Given the description of an element on the screen output the (x, y) to click on. 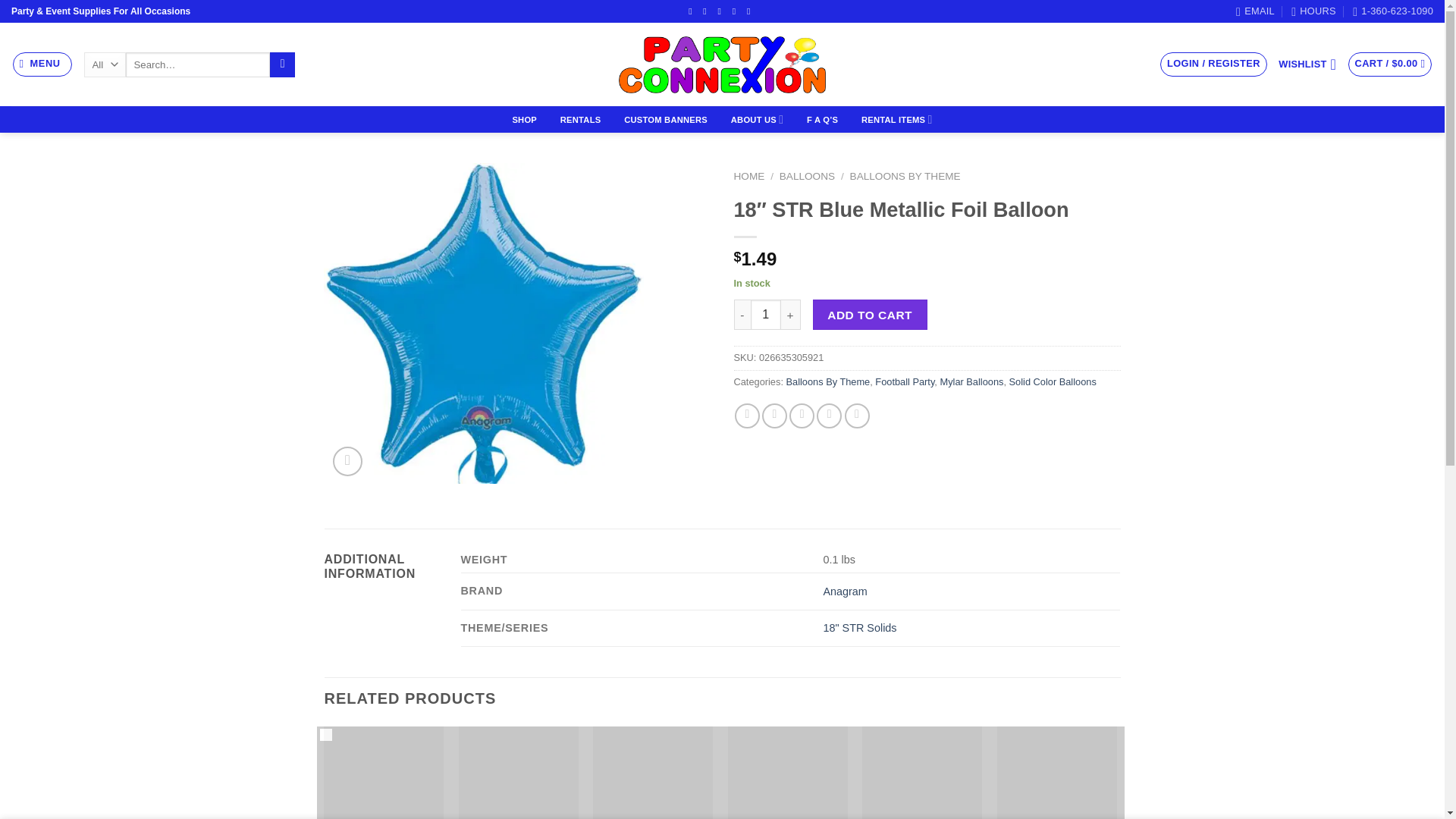
Cart (1390, 64)
ABOUT US (756, 119)
1-360-623-1090 (1392, 11)
HOME (749, 175)
CUSTOM BANNERS (665, 119)
MENU (42, 64)
SHOP (523, 119)
RENTAL ITEMS (896, 119)
RENTALS (579, 119)
